Given the description of an element on the screen output the (x, y) to click on. 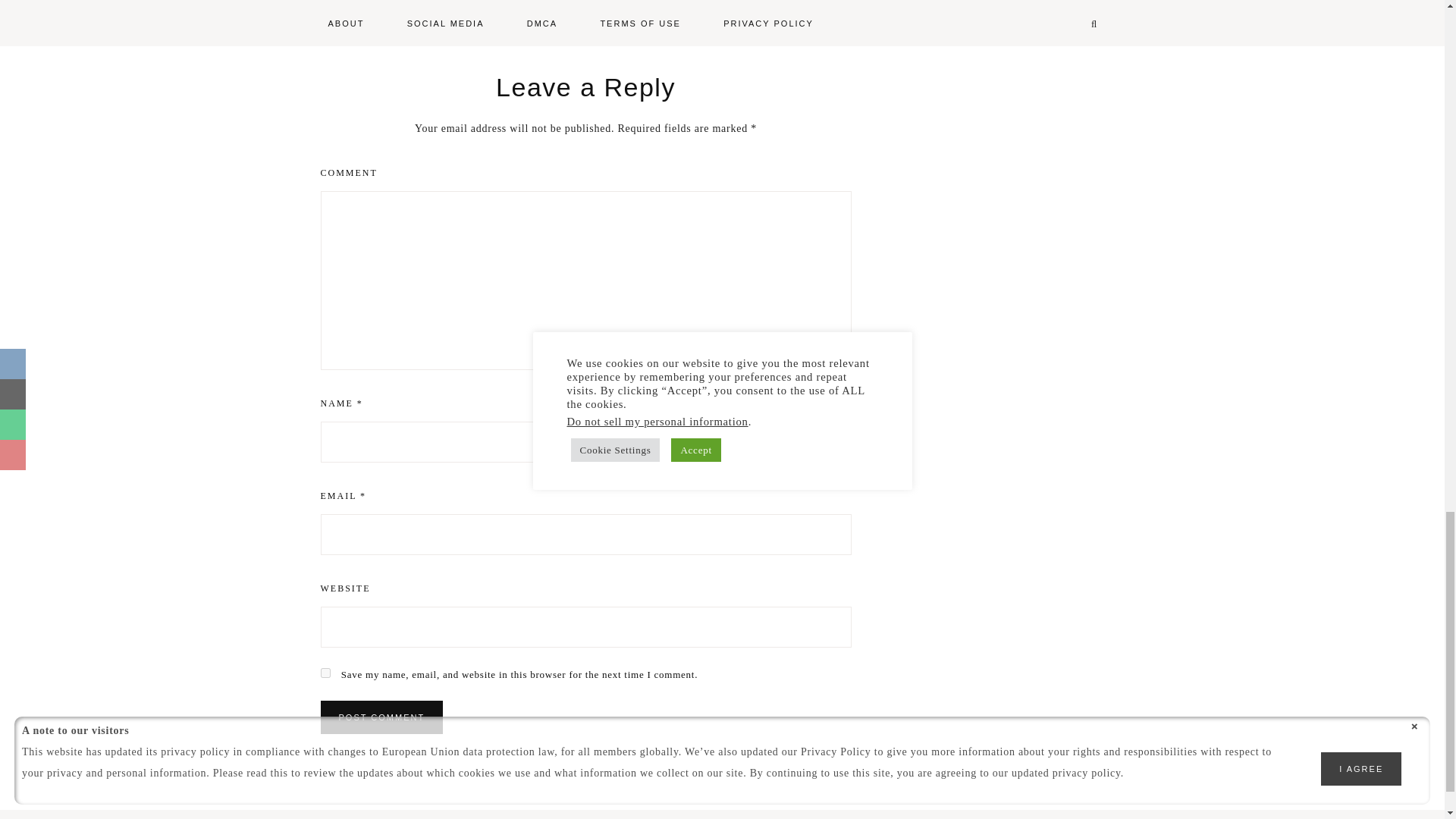
yes (325, 673)
Post Comment (381, 717)
Post Comment (381, 717)
